Given the description of an element on the screen output the (x, y) to click on. 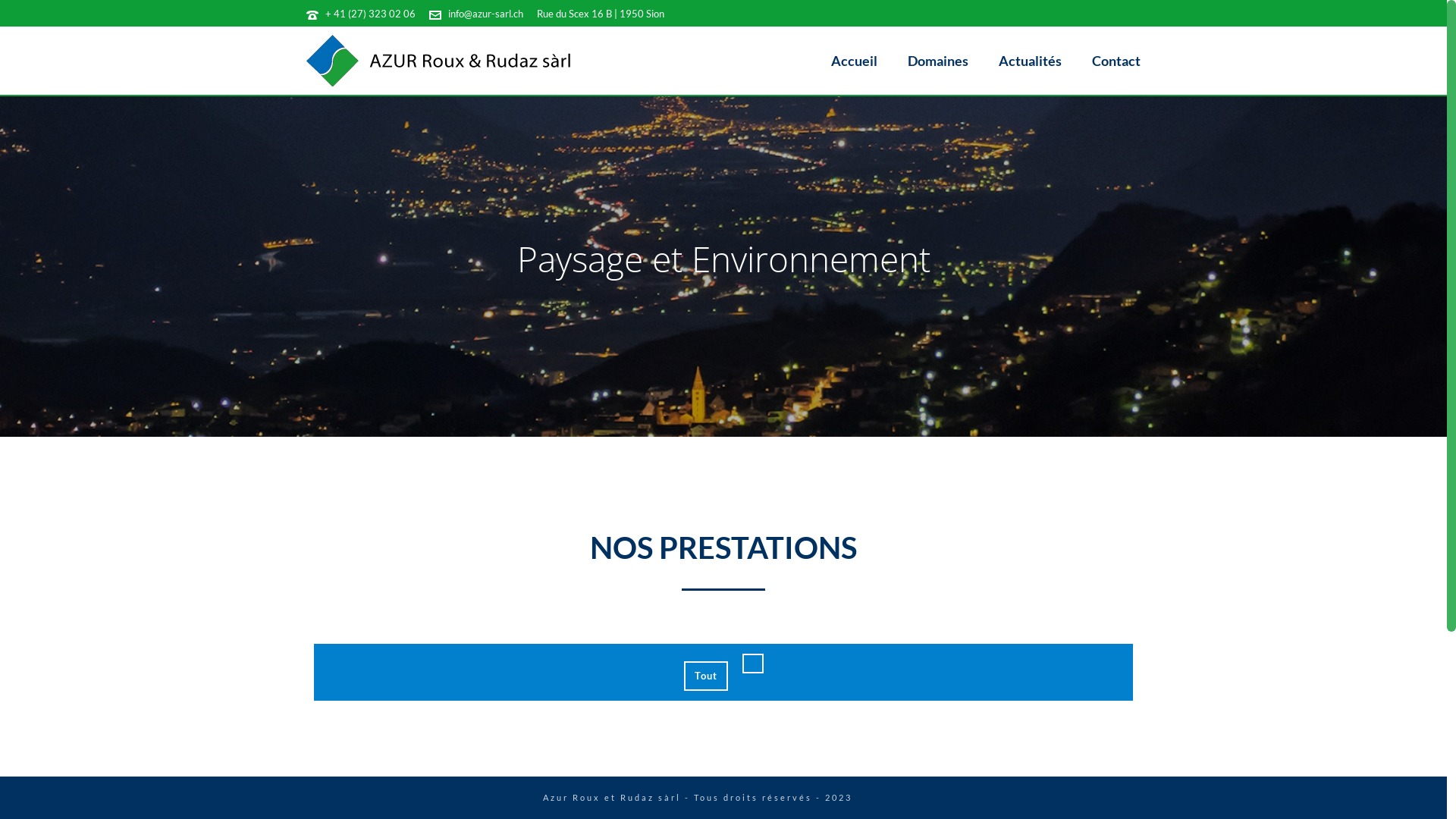
Domaines Element type: text (937, 60)
Contact Element type: text (1115, 60)
Tout Element type: text (706, 675)
ACTUALITES/BLOG Element type: text (800, 676)
URBANISME Element type: text (780, 638)
info@azur-sarl.ch Element type: text (485, 13)
ARCHITECTURE Element type: text (791, 657)
+ 41 (27) 323 02 06 Element type: text (370, 13)
ACCUEIL Element type: text (768, 619)
Accueil Element type: text (853, 60)
Nature et territoire Element type: text (1032, 676)
CONTACT Element type: text (772, 695)
